Given the description of an element on the screen output the (x, y) to click on. 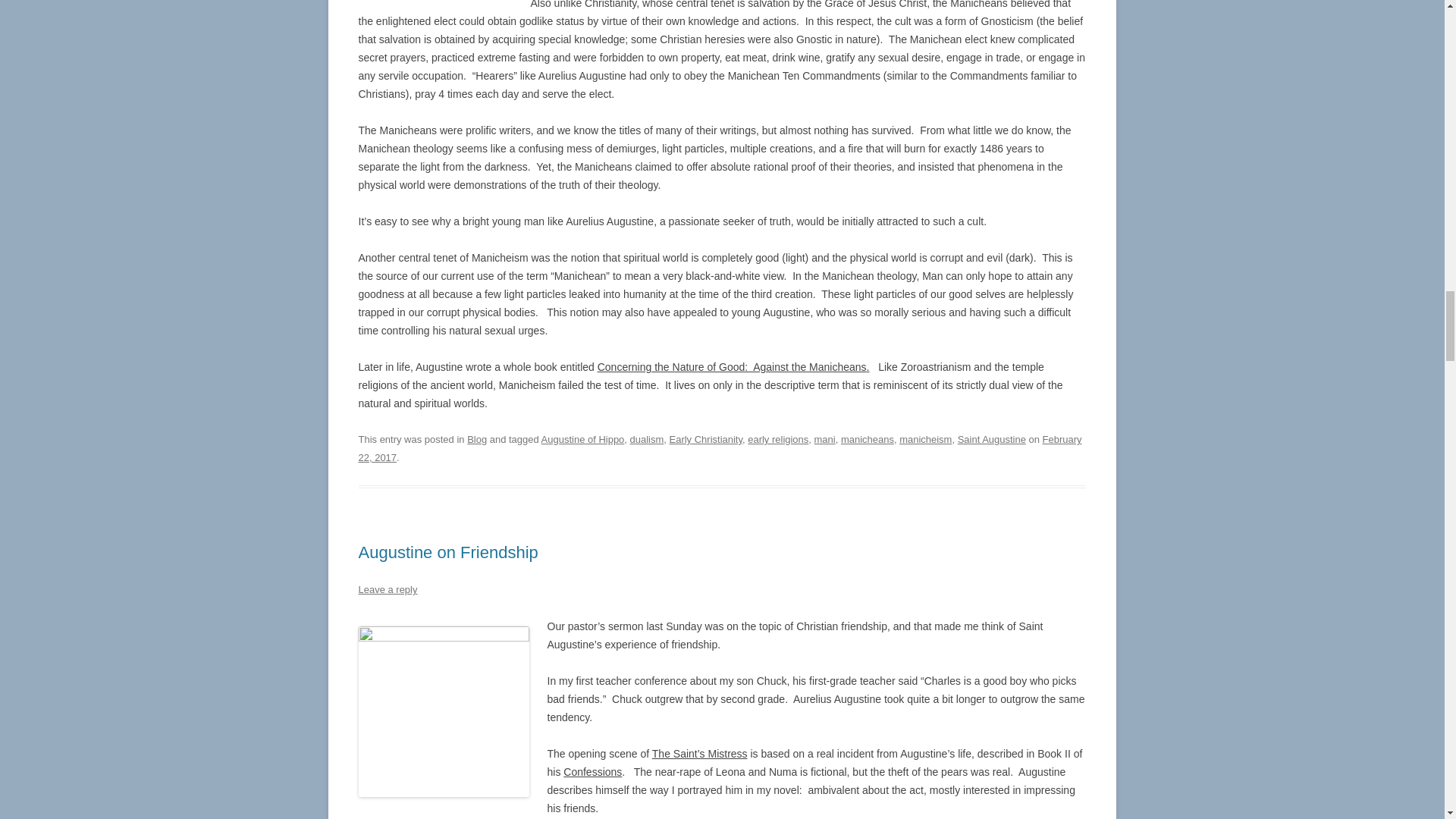
dualism (646, 439)
Blog (476, 439)
manicheans (867, 439)
Augustine of Hippo (582, 439)
Leave a reply (387, 589)
February 22, 2017 (719, 448)
Augustine on Friendship (447, 551)
Early Christianity (705, 439)
early religions (778, 439)
Saint Augustine (992, 439)
12:05 pm (719, 448)
manicheism (925, 439)
mani (824, 439)
